Given the description of an element on the screen output the (x, y) to click on. 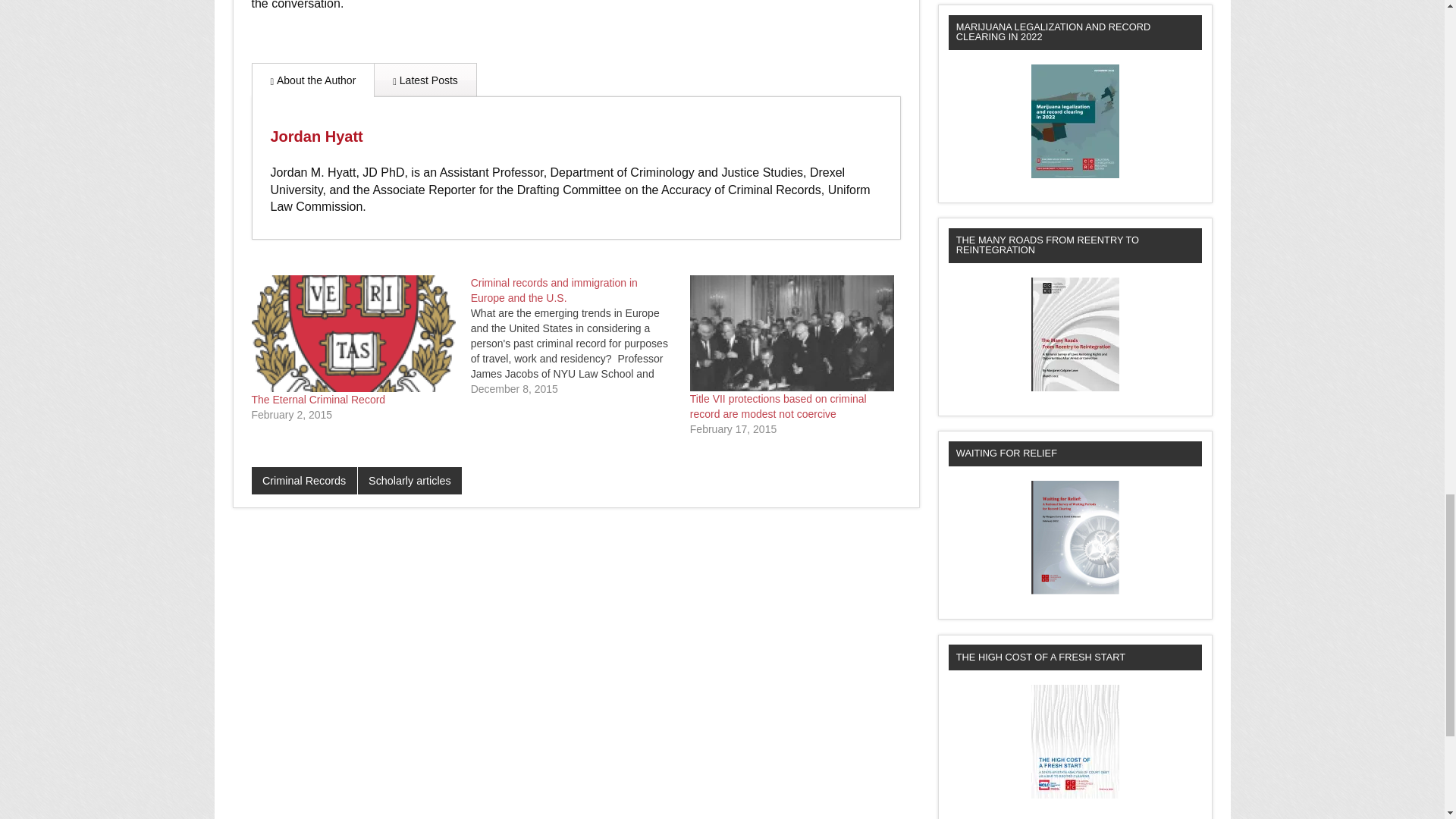
Criminal records and immigration in Europe and the U.S. (580, 335)
The Eternal Criminal Record (353, 333)
Criminal records and immigration in Europe and the U.S. (553, 289)
The Eternal Criminal Record (318, 399)
